Given the description of an element on the screen output the (x, y) to click on. 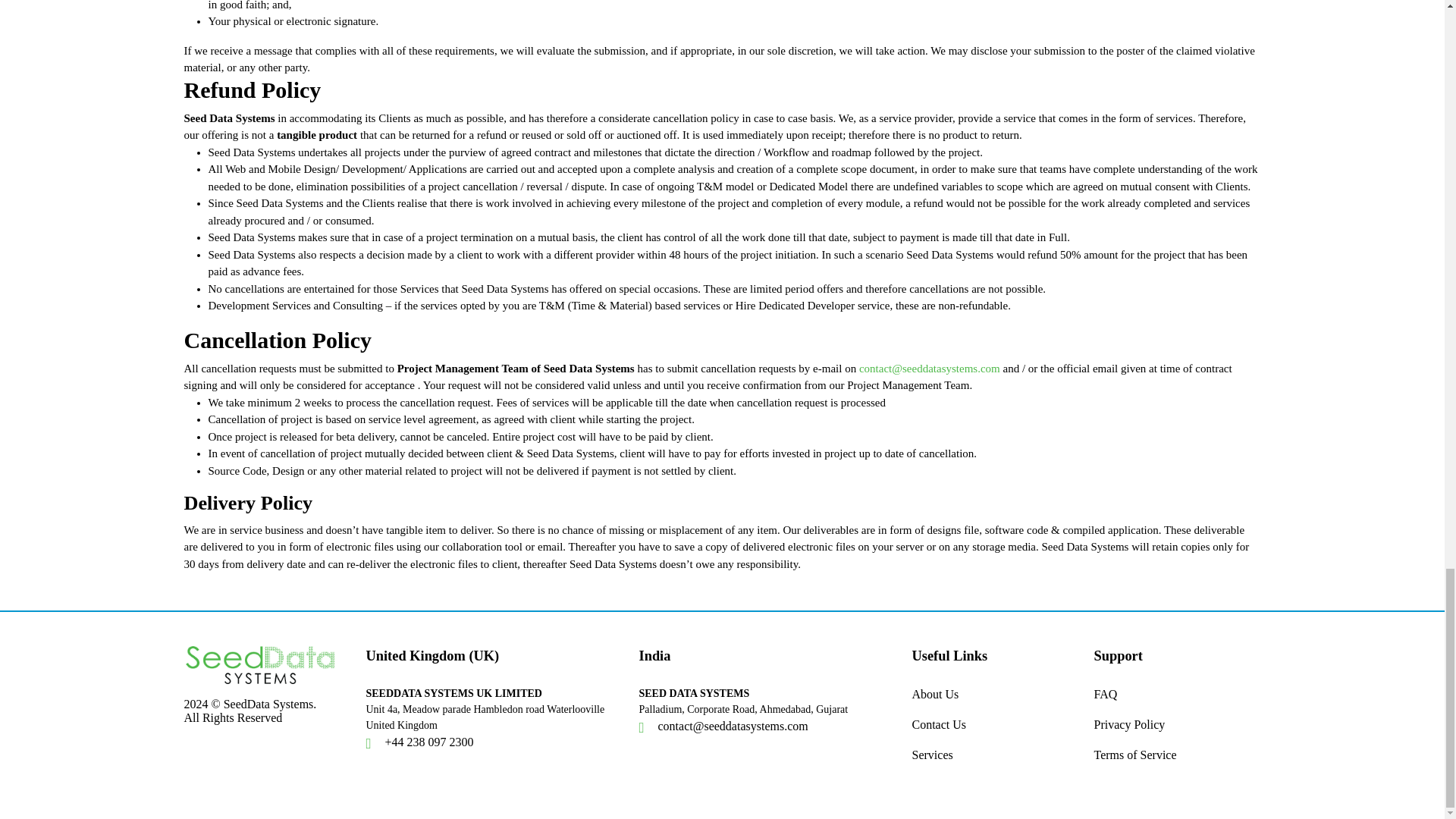
Terms of Service (1134, 761)
Contact Us (938, 730)
Services (931, 761)
About Us (934, 700)
Privacy Policy (1128, 730)
